Given the description of an element on the screen output the (x, y) to click on. 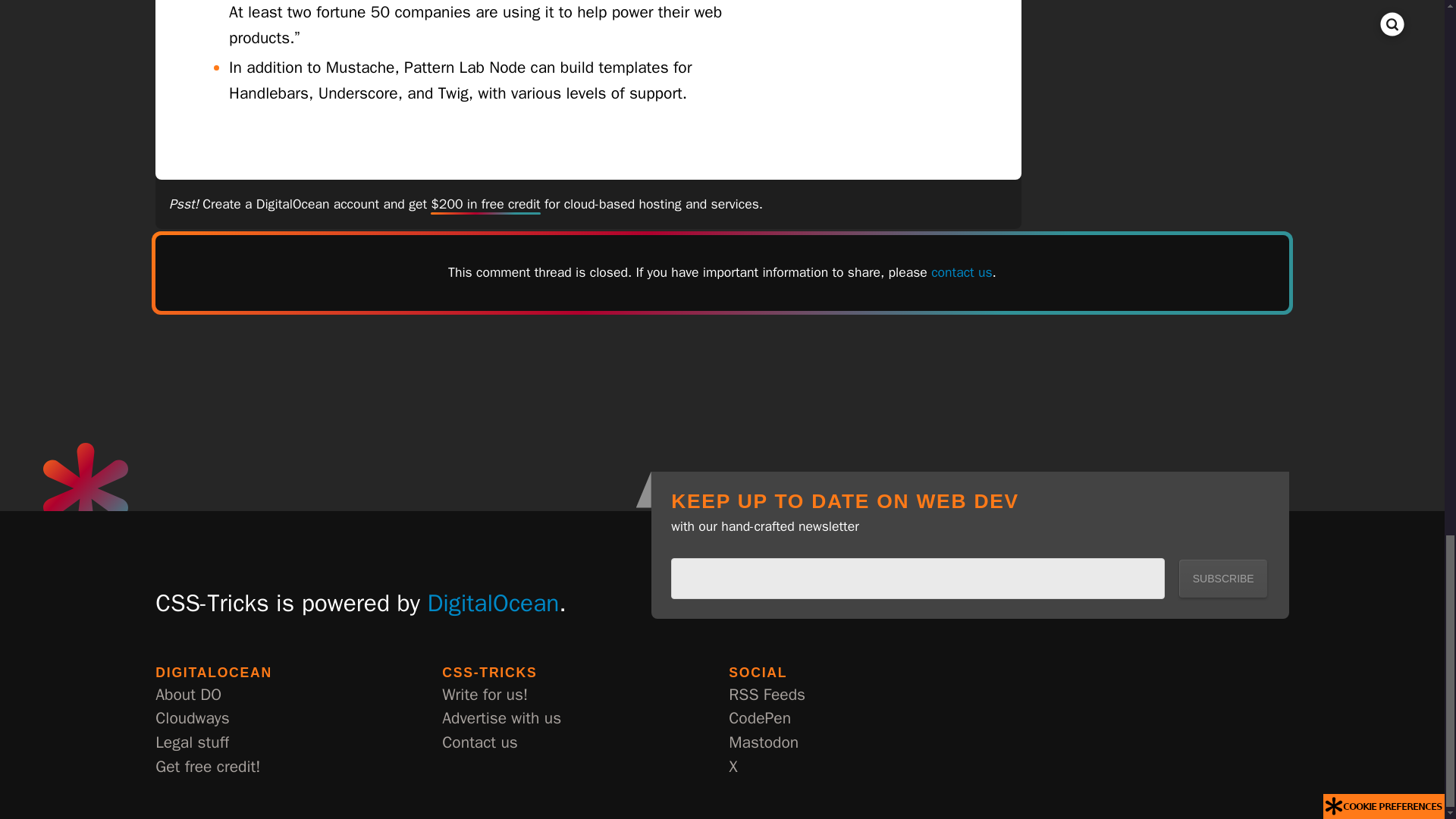
About DO (188, 695)
SUBSCRIBE (1222, 578)
Get free credit! (207, 767)
Write for us! (484, 695)
Cloudways (191, 718)
Mastodon (763, 743)
DigitalOcean (492, 603)
contact us (961, 271)
Contact us (480, 743)
Legal stuff (191, 743)
RSS Feeds (767, 695)
CodePen (759, 718)
Advertise with us (501, 718)
